Given the description of an element on the screen output the (x, y) to click on. 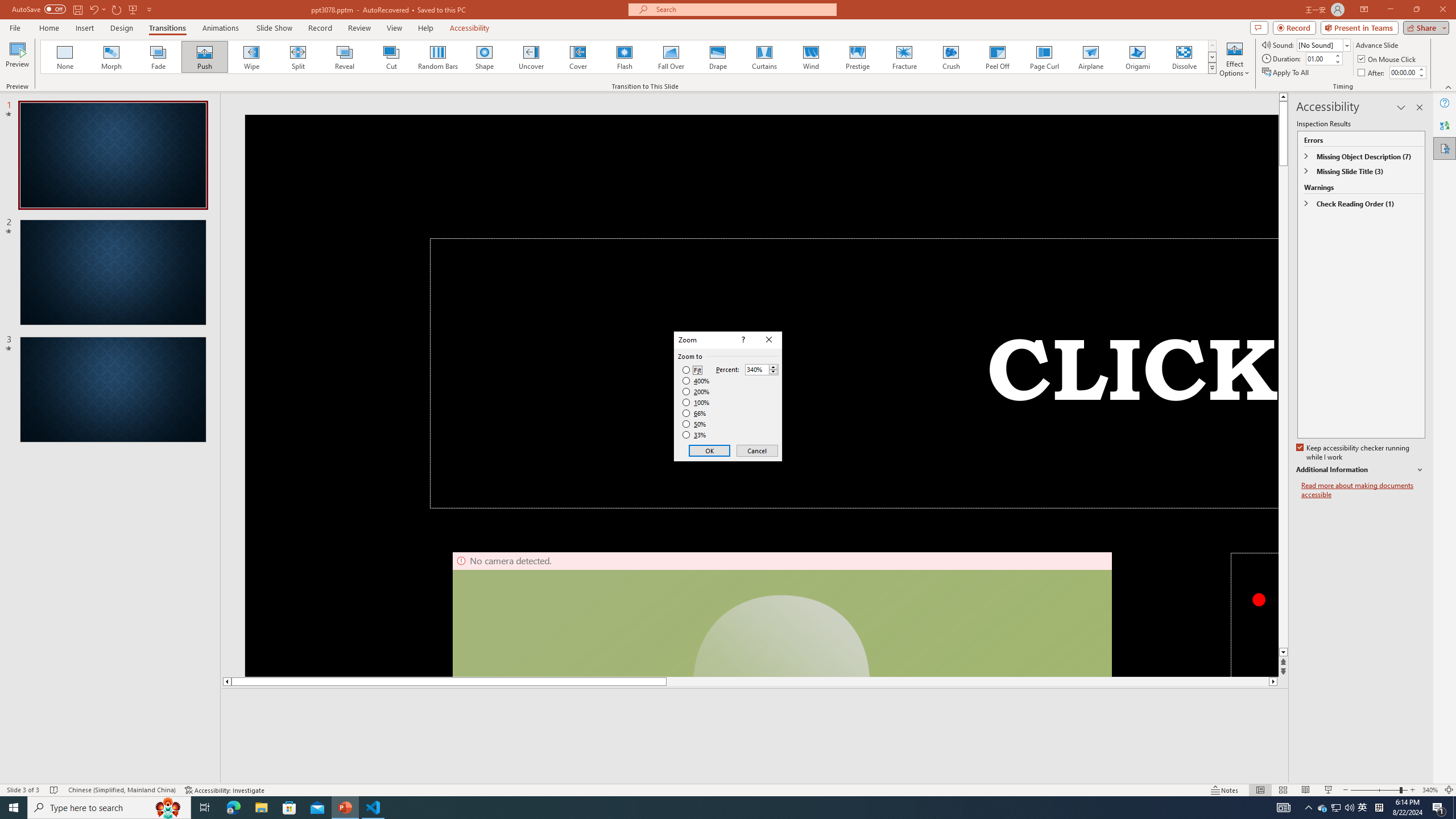
Prestige (857, 56)
Reveal (344, 56)
Curtains (764, 56)
Duration (1319, 58)
Flash (624, 56)
